Given the description of an element on the screen output the (x, y) to click on. 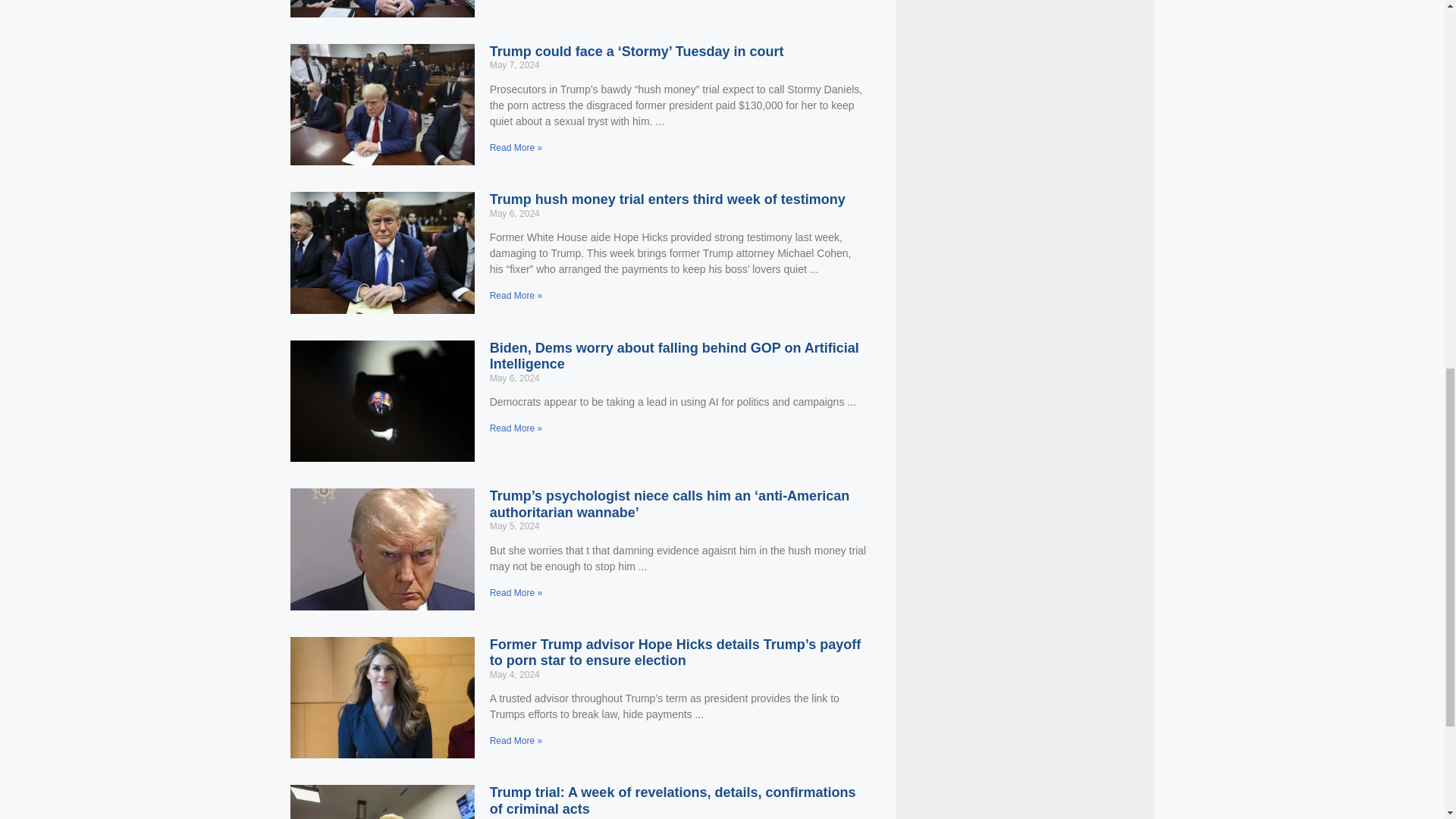
Trump hush money trial enters third week of testimony (667, 199)
